Given the description of an element on the screen output the (x, y) to click on. 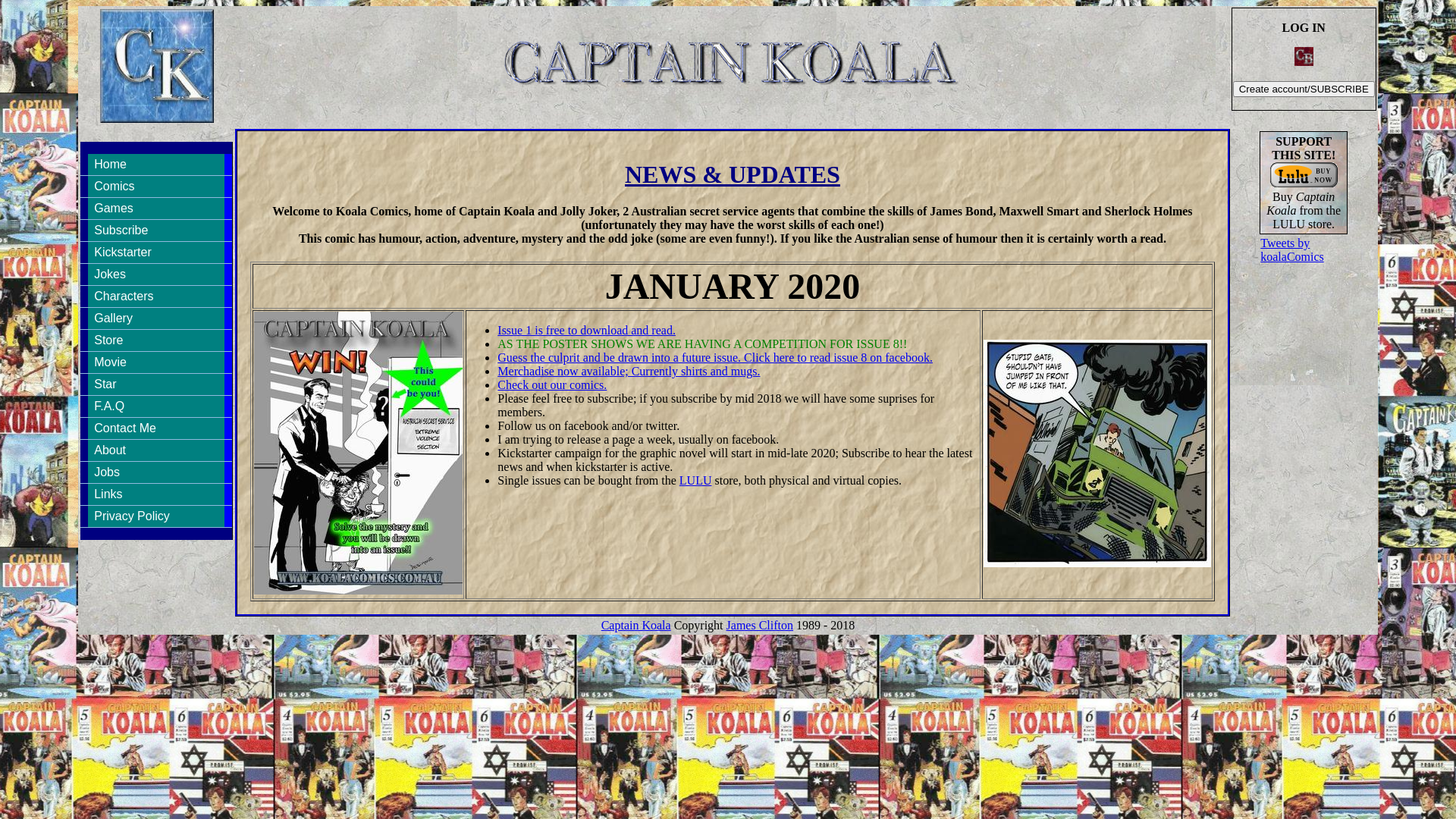
Check out our comics. Element type: text (551, 384)
Log in with your Clifton Bazaar account Element type: hover (1303, 56)
F.A.Q Element type: text (156, 406)
Movie Element type: text (156, 362)
Merchadise now available; Currently shirts and mugs. Element type: text (628, 370)
LULU Element type: text (695, 479)
Subscribe Element type: text (156, 230)
Jokes Element type: text (156, 274)
James Clifton Element type: text (759, 624)
Create account/SUBSCRIBE Element type: text (1303, 89)
Links Element type: text (156, 494)
Star Element type: text (156, 384)
Privacy Policy Element type: text (156, 516)
Captain Koala Competition poster Element type: hover (358, 452)
About Element type: text (156, 450)
Captain Koala Element type: hover (1097, 453)
Jobs Element type: text (156, 472)
Home Element type: text (156, 164)
Store Element type: text (156, 340)
Tweets by koalaComics Element type: text (1292, 249)
Kickstarter Element type: text (156, 252)
Games Element type: text (156, 208)
Characters Element type: text (156, 296)
Comics Element type: text (156, 186)
Captain Koala Element type: text (636, 624)
Contact Me Element type: text (156, 428)
Gallery Element type: text (156, 318)
Issue 1 is free to download and read. Element type: text (586, 329)
